Given the description of an element on the screen output the (x, y) to click on. 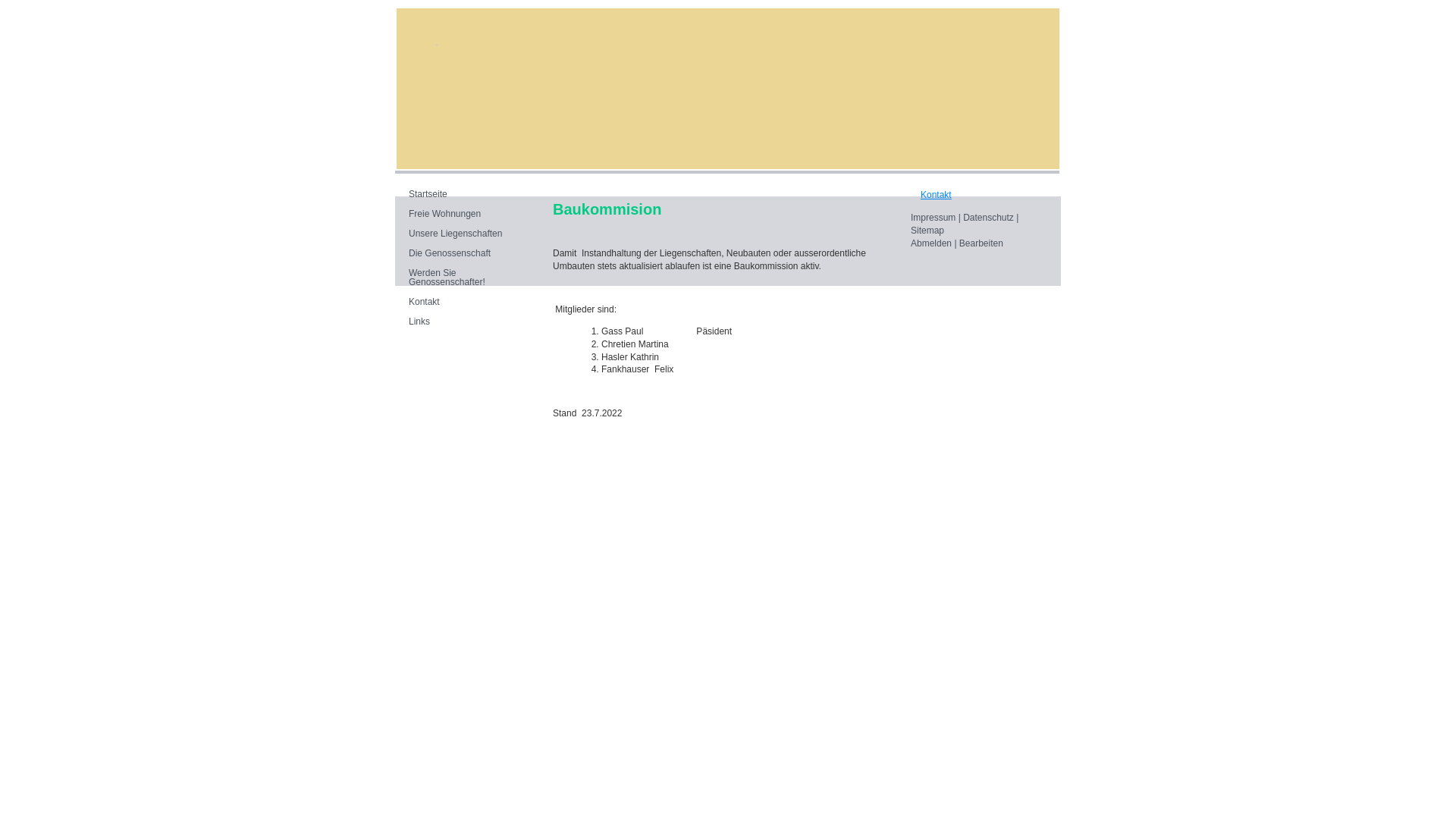
Datenschutz Element type: text (988, 217)
Kontakt Element type: text (467, 302)
Werden Sie Genossenschafter! Element type: text (467, 277)
Freie Wohnungen Element type: text (467, 214)
Startseite Element type: text (467, 194)
Die Genossenschaft Element type: text (467, 253)
Sitemap Element type: text (927, 230)
Links Element type: text (467, 322)
Bearbeiten Element type: text (981, 243)
Unsere Liegenschaften Element type: text (467, 234)
Kontakt Element type: text (935, 194)
Impressum Element type: text (932, 217)
Abmelden Element type: text (931, 243)
